Given the description of an element on the screen output the (x, y) to click on. 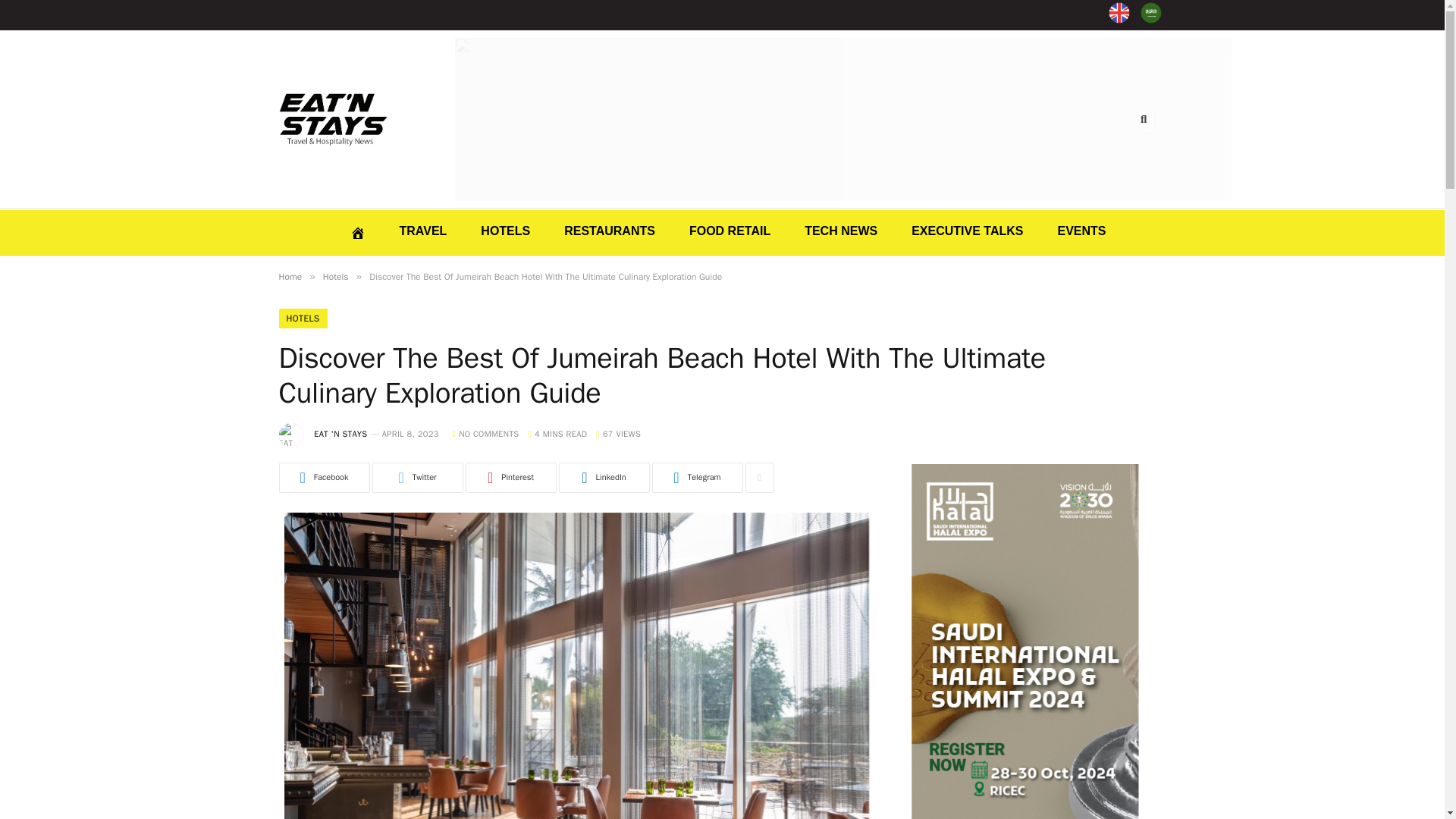
Search (1148, 119)
TRAVEL (423, 230)
Show More Social Sharing (758, 477)
EXECUTIVE TALKS (966, 230)
RESTAURANTS (609, 230)
67 Article Views (617, 433)
EVENTS (1080, 230)
Share on LinkedIn (603, 477)
Posts by Eat 'N Stays (340, 433)
Share on Facebook (324, 477)
HOTELS (504, 230)
Share on Telegram (697, 477)
FOOD RETAIL (729, 230)
TECH NEWS (840, 230)
Share on Pinterest (510, 477)
